Given the description of an element on the screen output the (x, y) to click on. 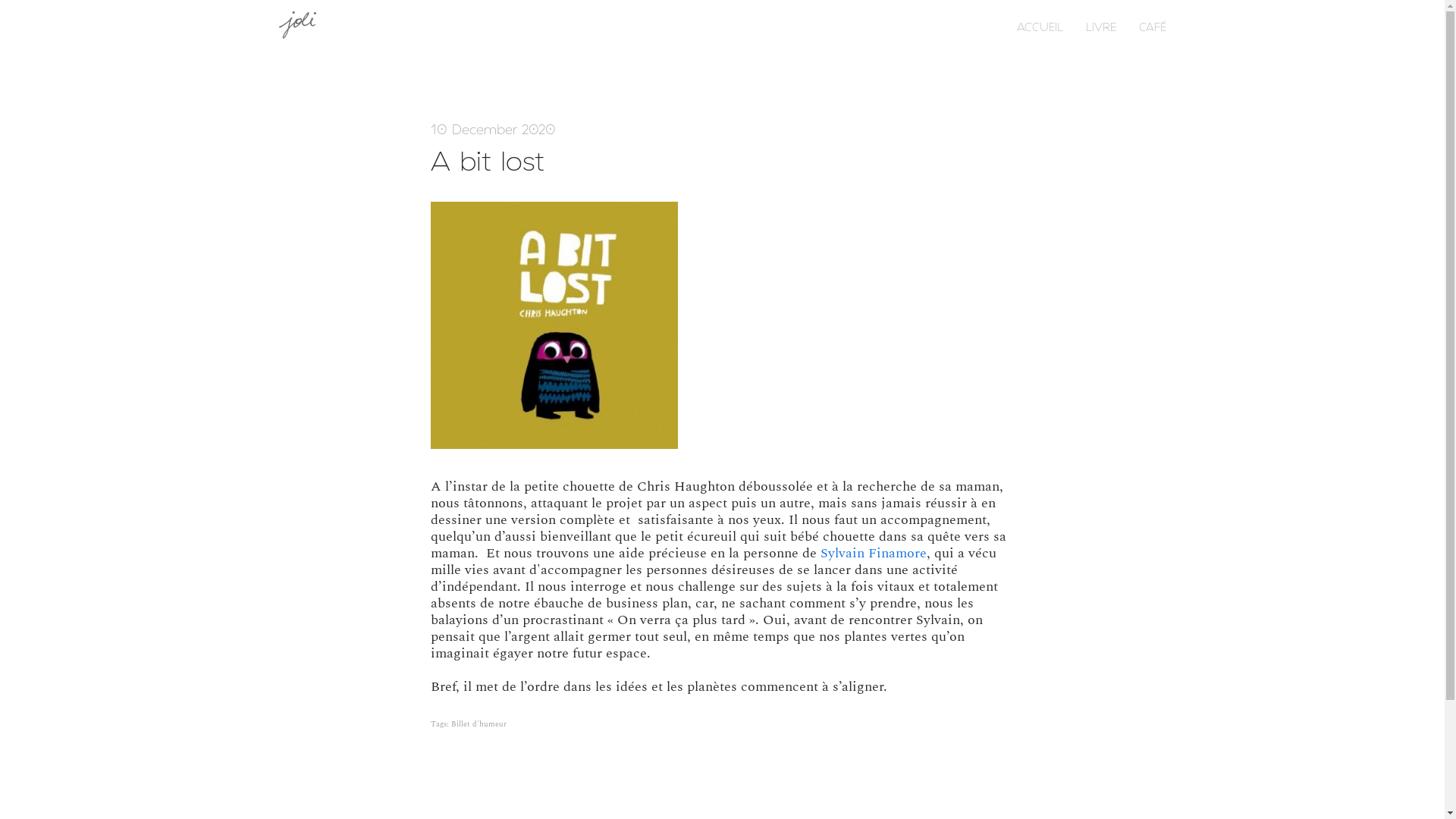
LIVRE Element type: text (1112, 25)
Billet d'humeur Element type: text (477, 724)
10 December 2020 Element type: text (492, 129)
Sylvain Finamore Element type: text (870, 552)
ACCUEIL Element type: text (1050, 25)
A bit lost Element type: text (487, 160)
